Given the description of an element on the screen output the (x, y) to click on. 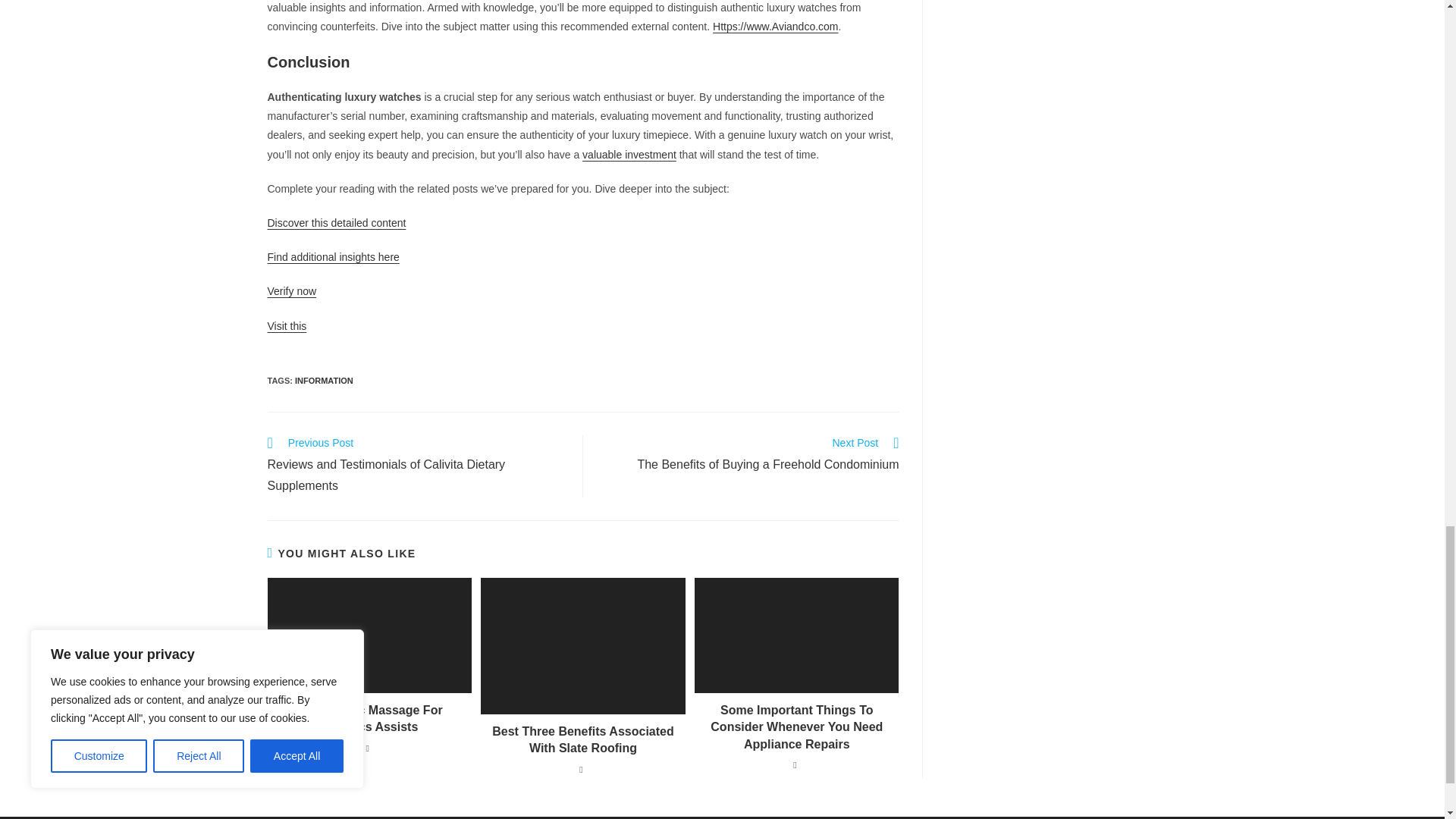
INFORMATION (324, 379)
Discover this detailed content (336, 223)
valuable investment (748, 454)
Find additional insights here (629, 154)
Verify now (332, 256)
Visit this (290, 291)
